Given the description of an element on the screen output the (x, y) to click on. 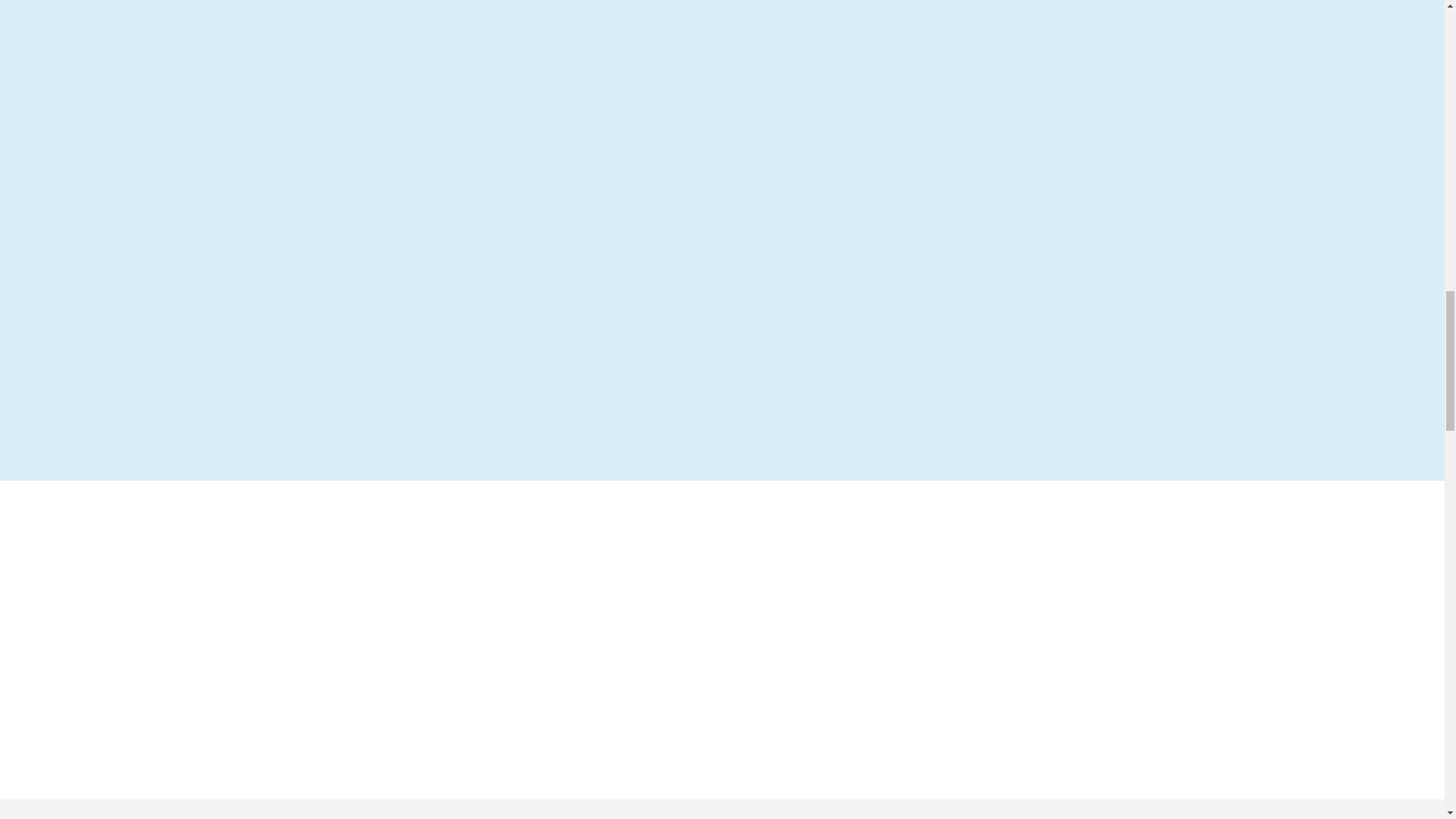
Watch Video (809, 701)
Buy Now (635, 701)
